Given the description of an element on the screen output the (x, y) to click on. 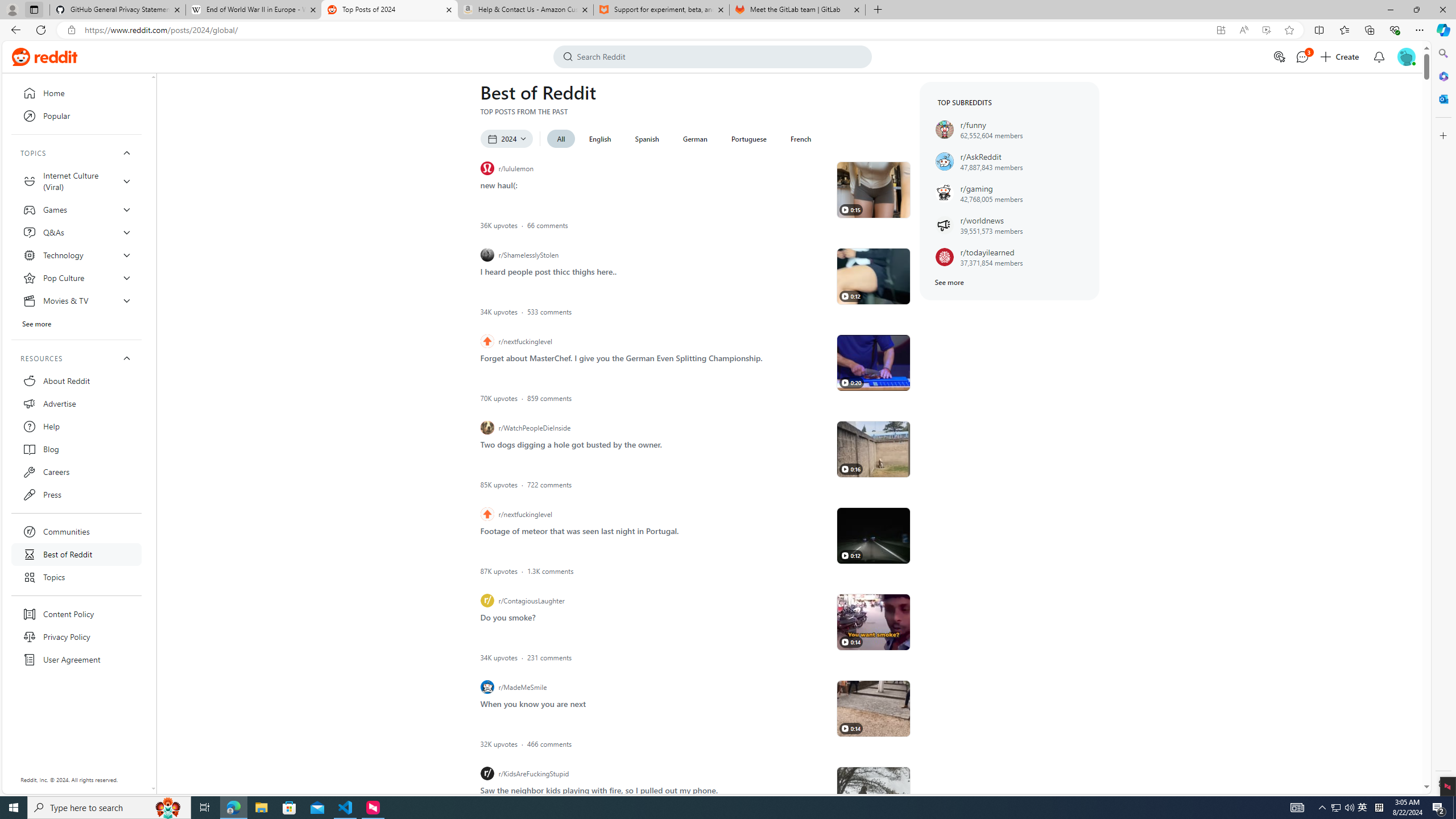
Movies & TV (76, 300)
r/nextfuckinglevel (654, 513)
r/ContagiousLaughter - Do you smoke? (873, 622)
Best of Reddit (76, 553)
2024 (506, 138)
End of World War II in Europe - Wikipedia (253, 9)
